Given the description of an element on the screen output the (x, y) to click on. 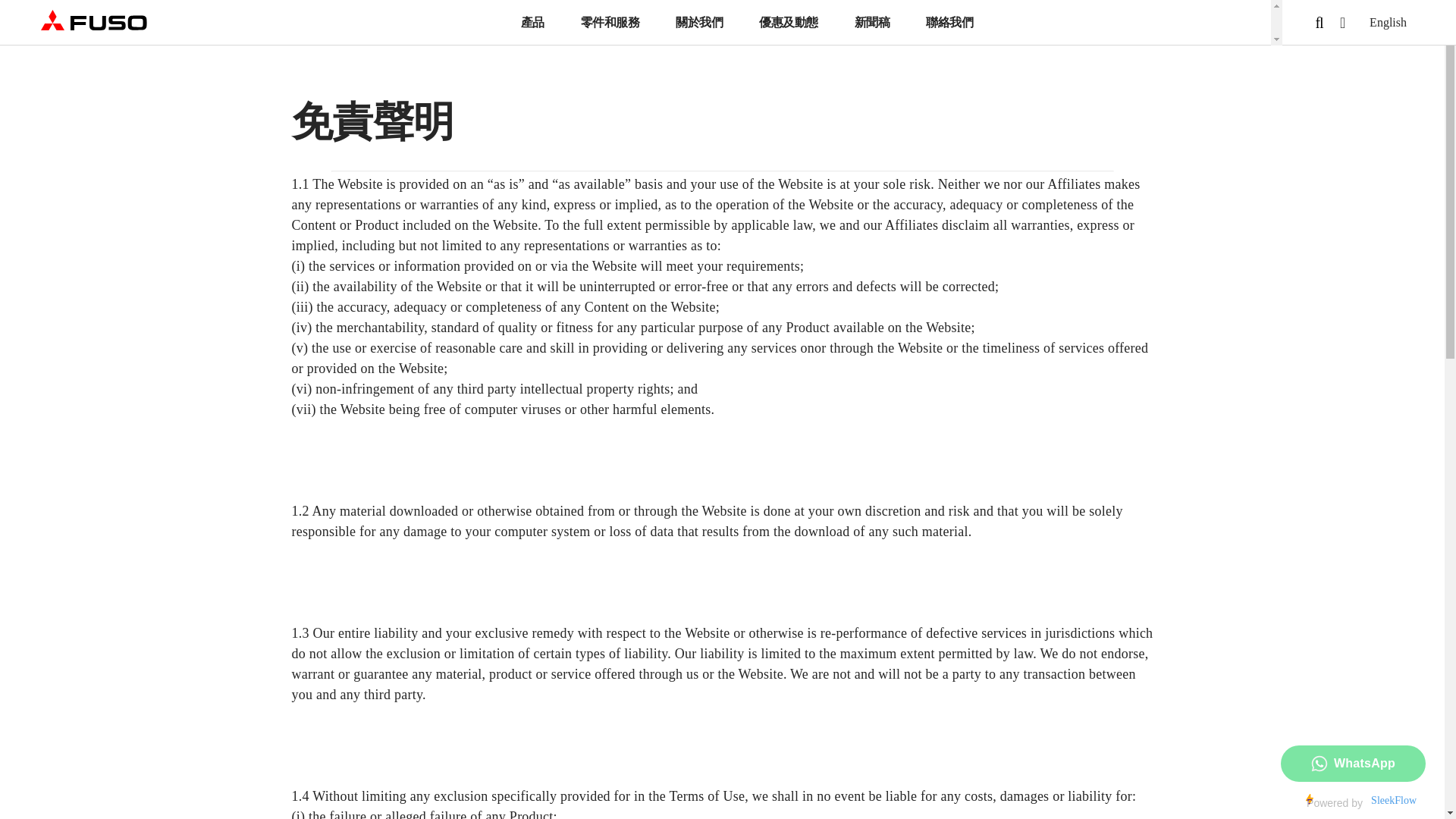
English (1387, 21)
